Given the description of an element on the screen output the (x, y) to click on. 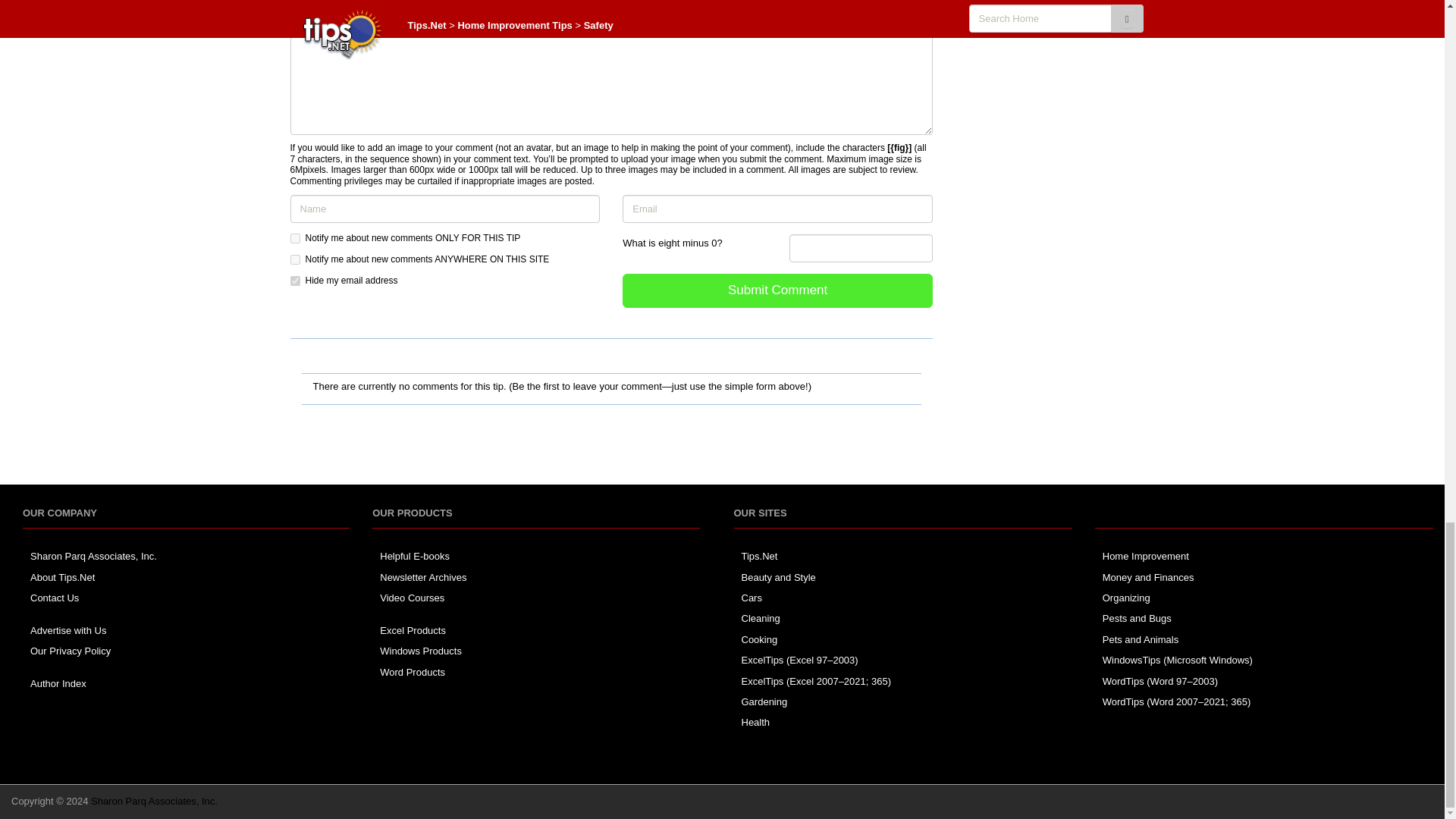
Windows Products (420, 650)
Newsletter Archives (422, 577)
Submit Comment (778, 290)
Sharon Parq Associates, Inc. (93, 555)
Cars (751, 597)
Cleaning (760, 618)
About Tips.Net (62, 577)
Advertise with Us (68, 630)
Video Courses (412, 597)
Cooking (759, 639)
Our Privacy Policy (70, 650)
option2 (294, 259)
Beauty and Style (778, 577)
Tips.Net (759, 555)
Excel Products (412, 630)
